Given the description of an element on the screen output the (x, y) to click on. 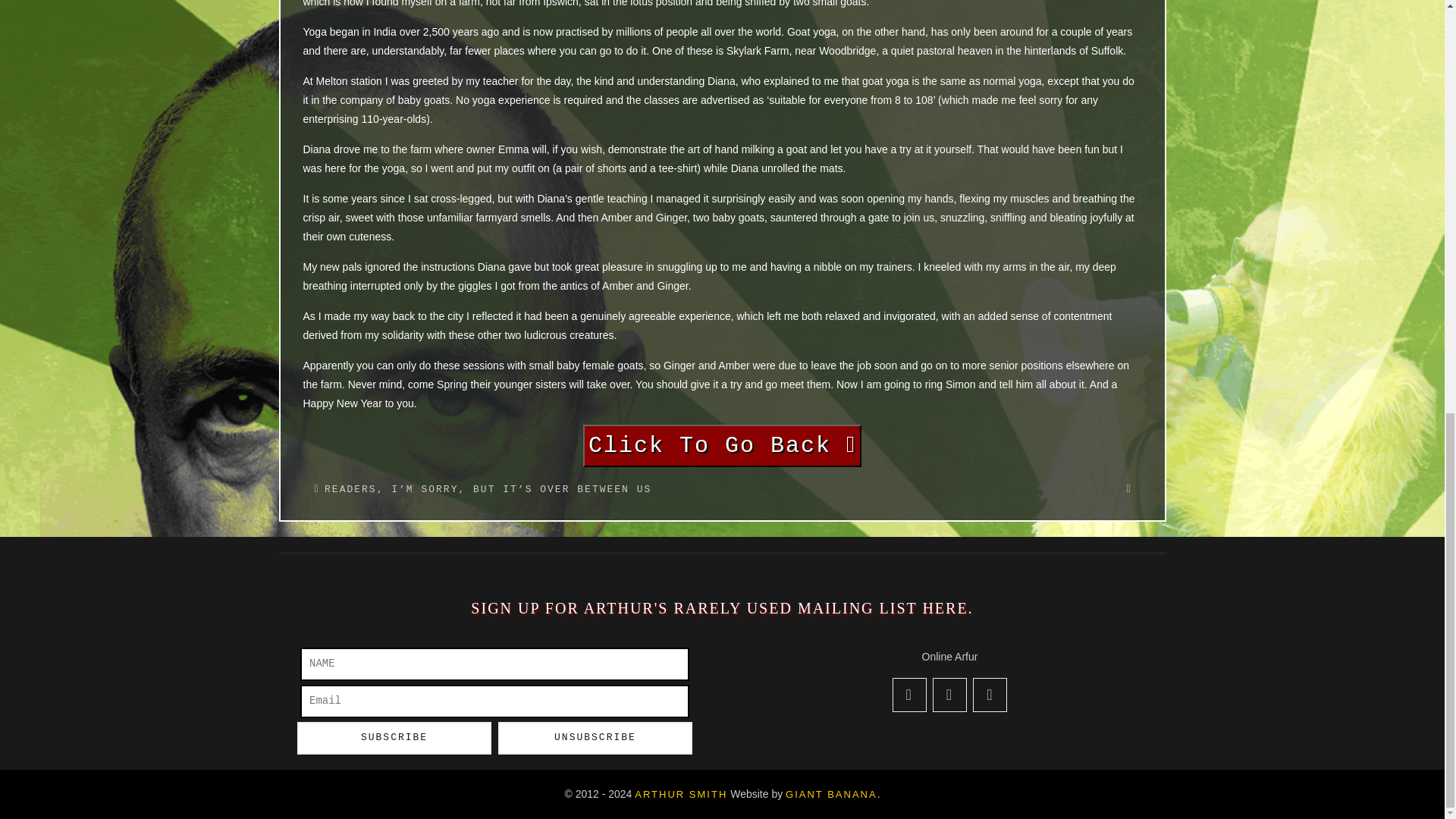
ARTHUR SMITH (680, 794)
GIANT BANANA (831, 794)
Unsubscribe (595, 737)
Click To Go Back (722, 449)
Subscribe (394, 737)
Subscribe (394, 737)
Click To Go Back (722, 446)
Unsubscribe (595, 737)
